Given the description of an element on the screen output the (x, y) to click on. 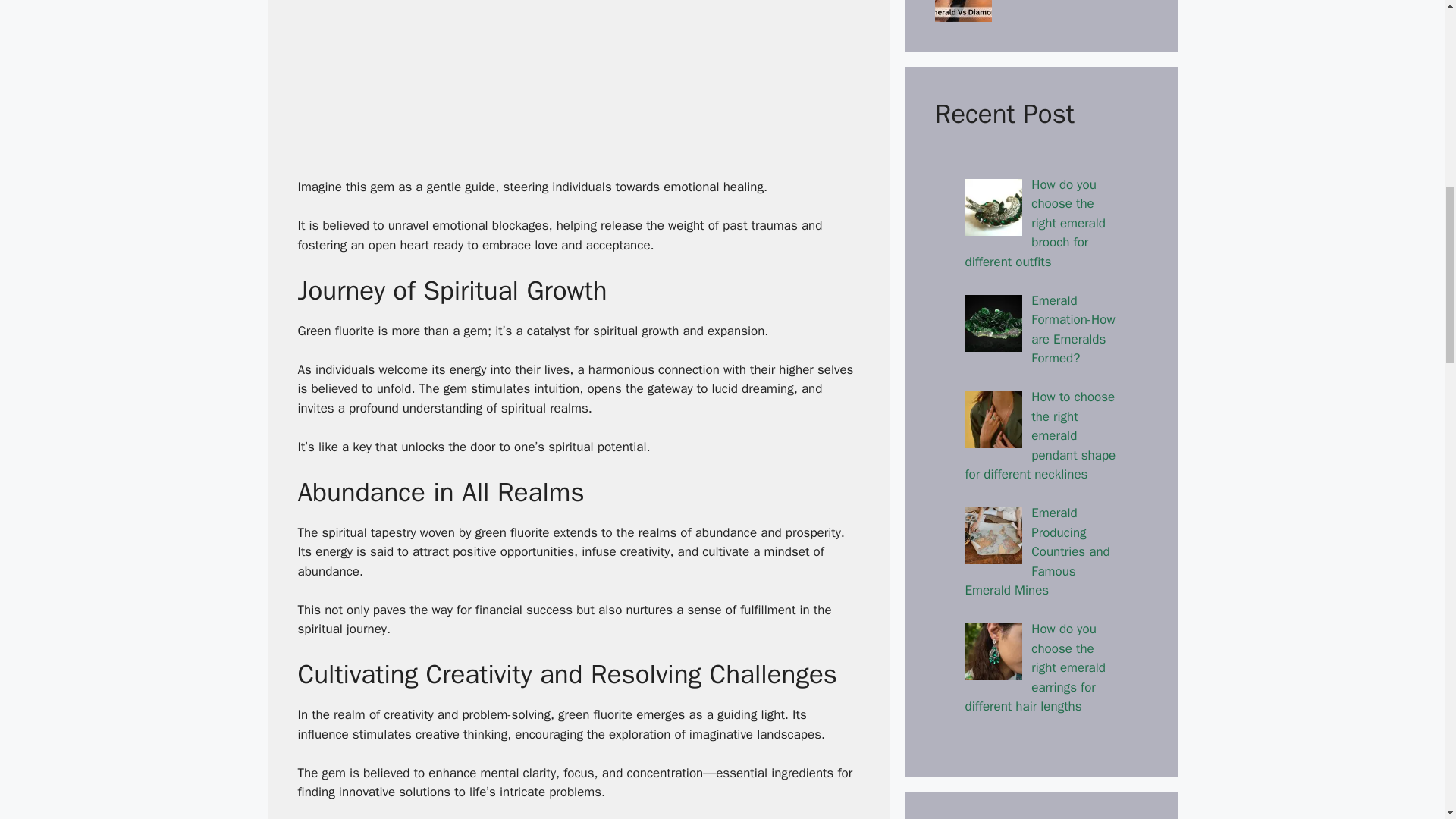
Advertisement (578, 85)
